Given the description of an element on the screen output the (x, y) to click on. 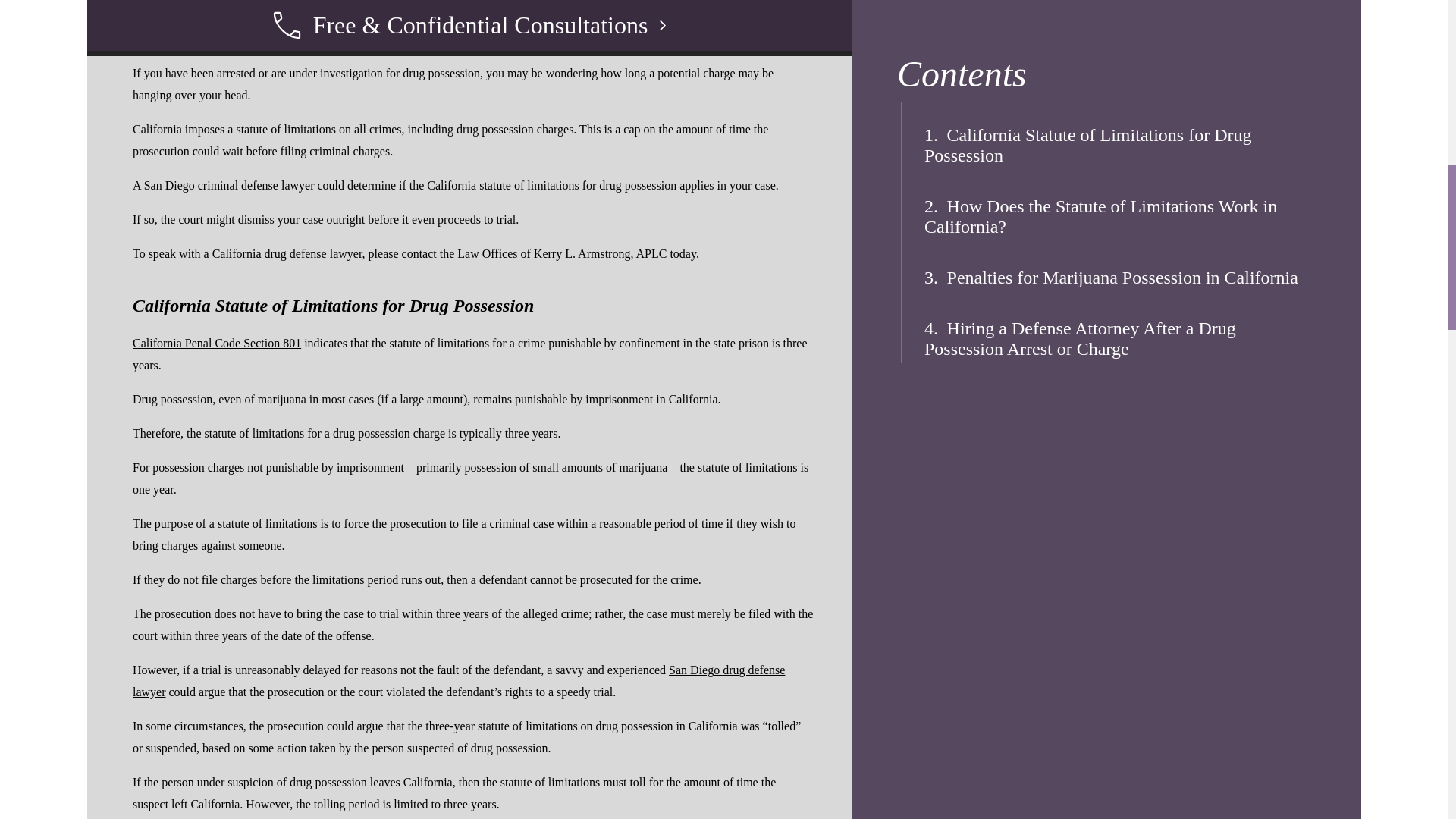
contact (418, 253)
Law Offices of Kerry L. Armstrong, APLC (561, 253)
California drug defense lawyer (287, 253)
San Diego drug defense lawyer (458, 680)
California Penal Code Section 801 (216, 342)
